Given the description of an element on the screen output the (x, y) to click on. 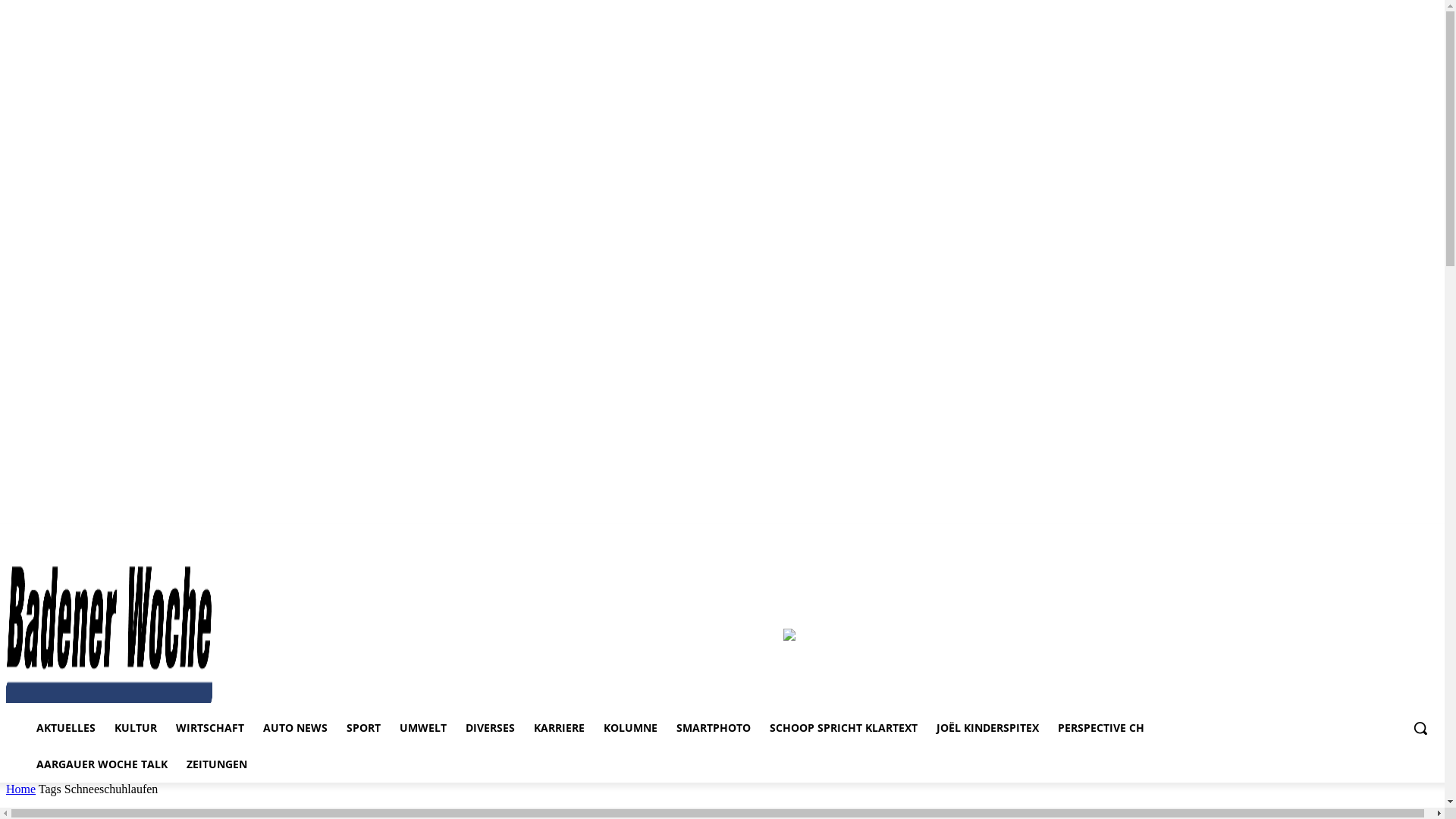
WIRTSCHAFT Element type: text (209, 727)
E-Paper Element type: text (1312, 555)
SMARTPHOTO Element type: text (713, 727)
Impressum Element type: text (1263, 555)
SPORT Element type: text (363, 727)
AKTUELLES Element type: text (65, 727)
ZEITUNGEN Element type: text (216, 764)
AUTO NEWS Element type: text (295, 727)
UMWELT Element type: text (422, 727)
Home Element type: text (20, 788)
AGB Element type: text (1388, 555)
KULTUR Element type: text (135, 727)
Tarife Element type: text (1354, 555)
Grosse Perlenausstellung Element type: hover (789, 636)
PERSPECTIVE CH Element type: text (1100, 727)
DIVERSES Element type: text (489, 727)
Leitbild Element type: text (1423, 555)
KARRIERE Element type: text (558, 727)
SCHOOP SPRICHT KLARTEXT Element type: text (843, 727)
AARGAUER WOCHE TALK Element type: text (101, 764)
KOLUMNE Element type: text (630, 727)
